Given the description of an element on the screen output the (x, y) to click on. 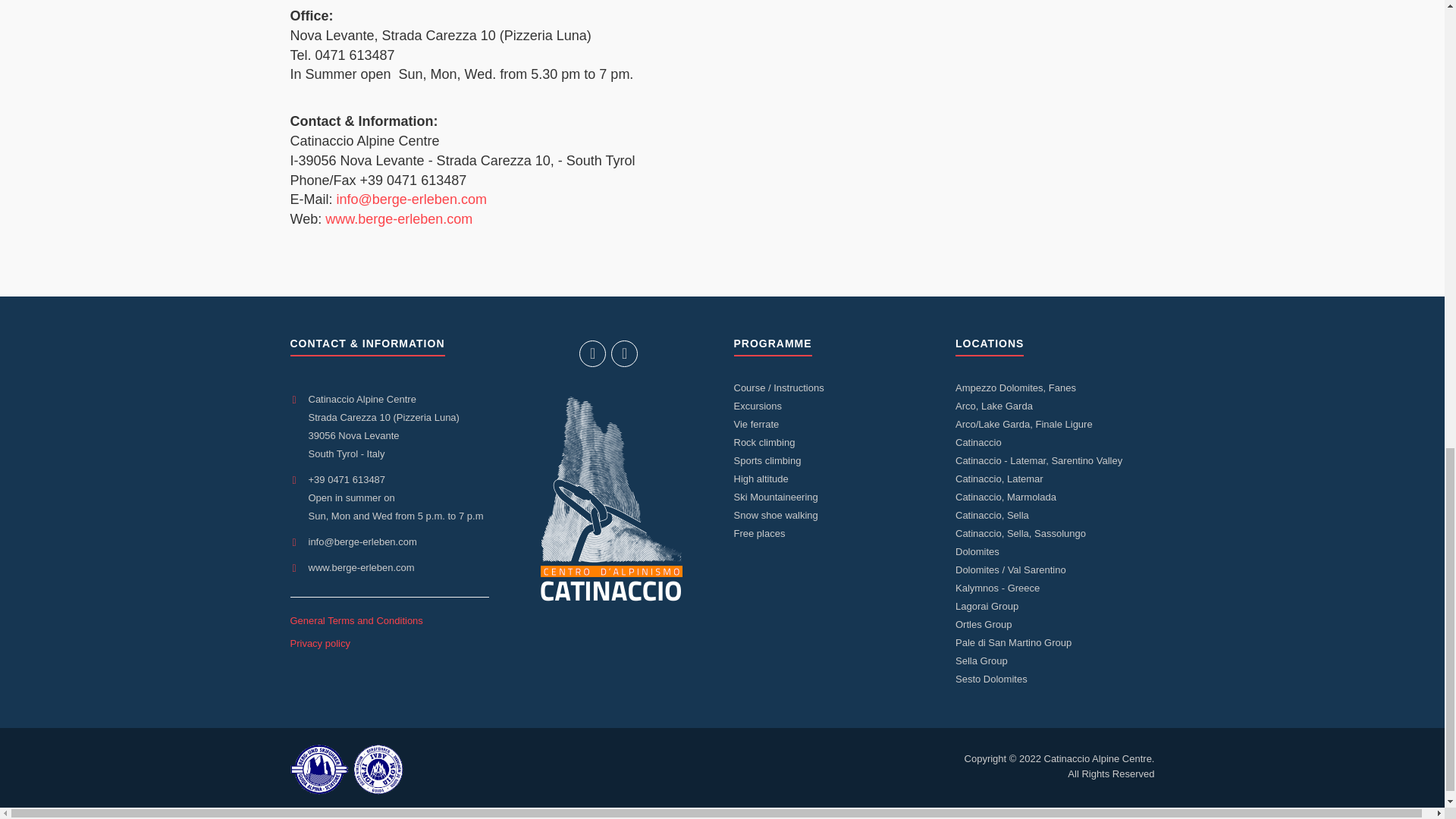
General Terms and Conditions (355, 620)
Privacy policy (319, 643)
www.berge-erleben.com (397, 218)
